Given the description of an element on the screen output the (x, y) to click on. 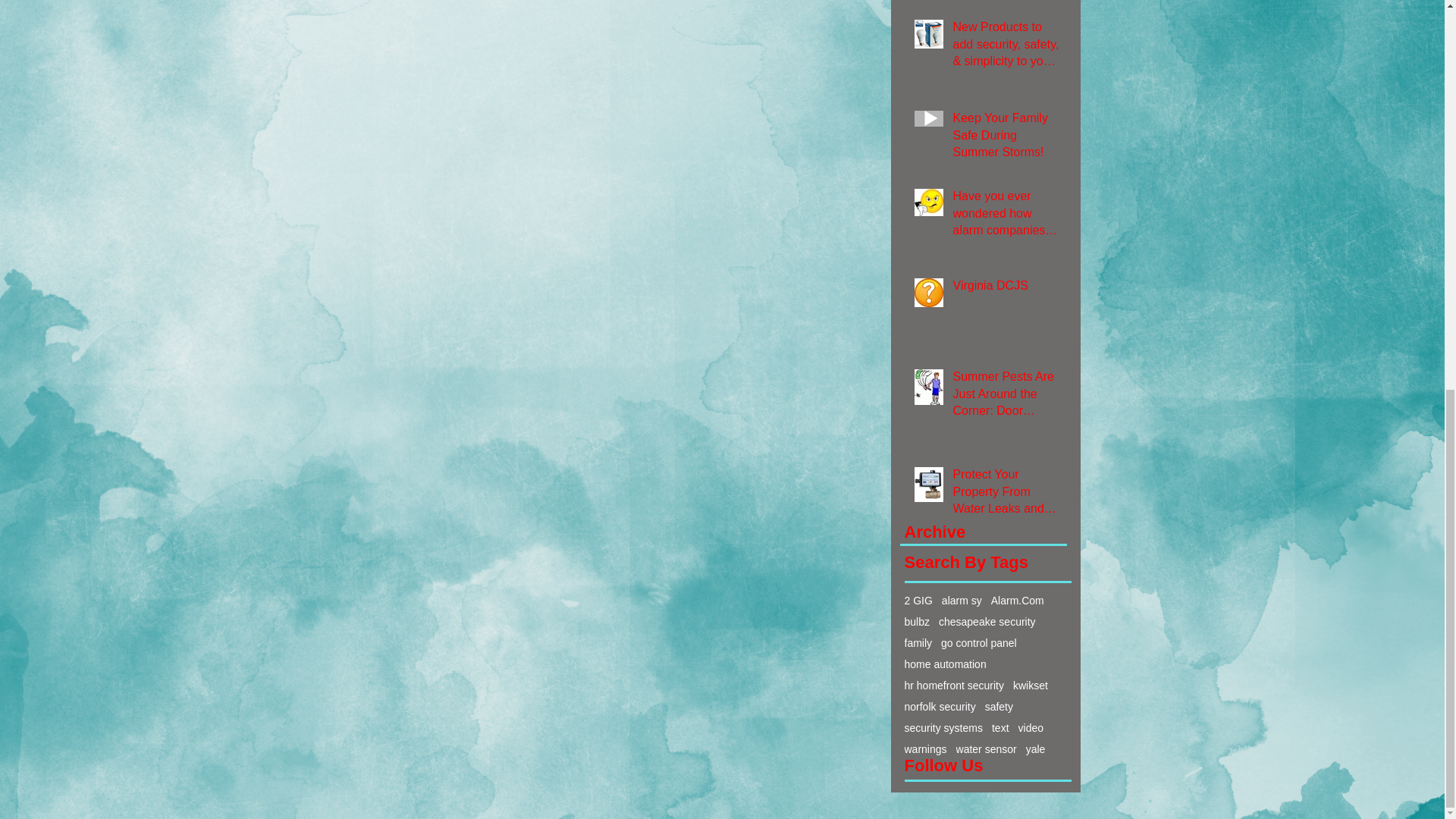
Protect Your Property From Water Leaks and Flood Damage (1006, 494)
family (917, 643)
go control panel (978, 643)
Keep Your Family Safe During Summer Storms! (1006, 138)
alarm sy (961, 600)
2 GIG (917, 600)
chesapeake security (987, 621)
home automation (944, 664)
Alarm.Com (1017, 600)
Virginia DCJS (1006, 288)
bulbz (916, 621)
